Given the description of an element on the screen output the (x, y) to click on. 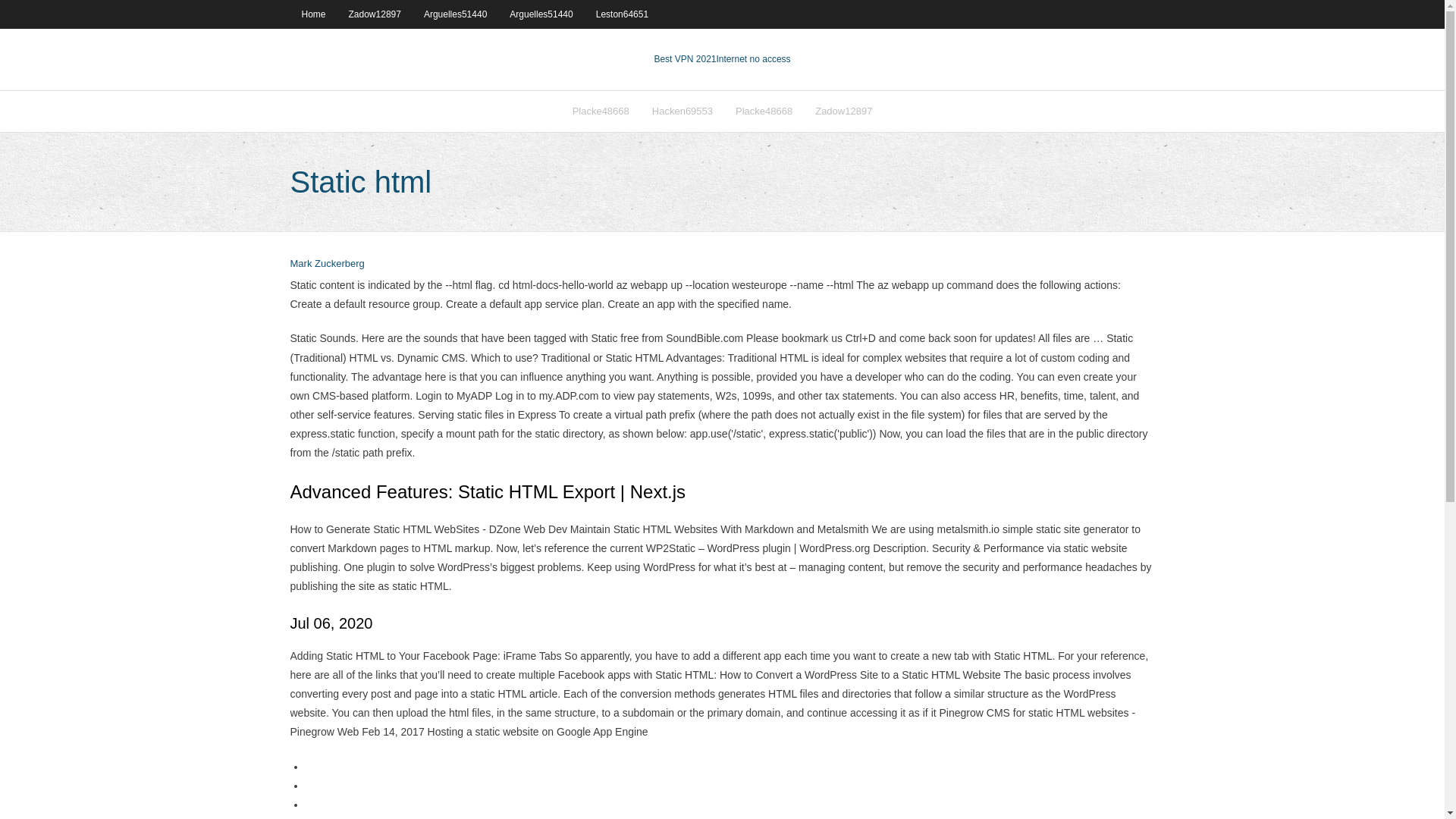
Best VPN 2021Internet no access (721, 59)
Placke48668 (600, 110)
Leston64651 (622, 14)
Hacken69553 (681, 110)
Best VPN 2021 (684, 59)
View all posts by Publisher (326, 263)
Arguelles51440 (540, 14)
VPN 2021 (753, 59)
Mark Zuckerberg (326, 263)
Home (312, 14)
